Given the description of an element on the screen output the (x, y) to click on. 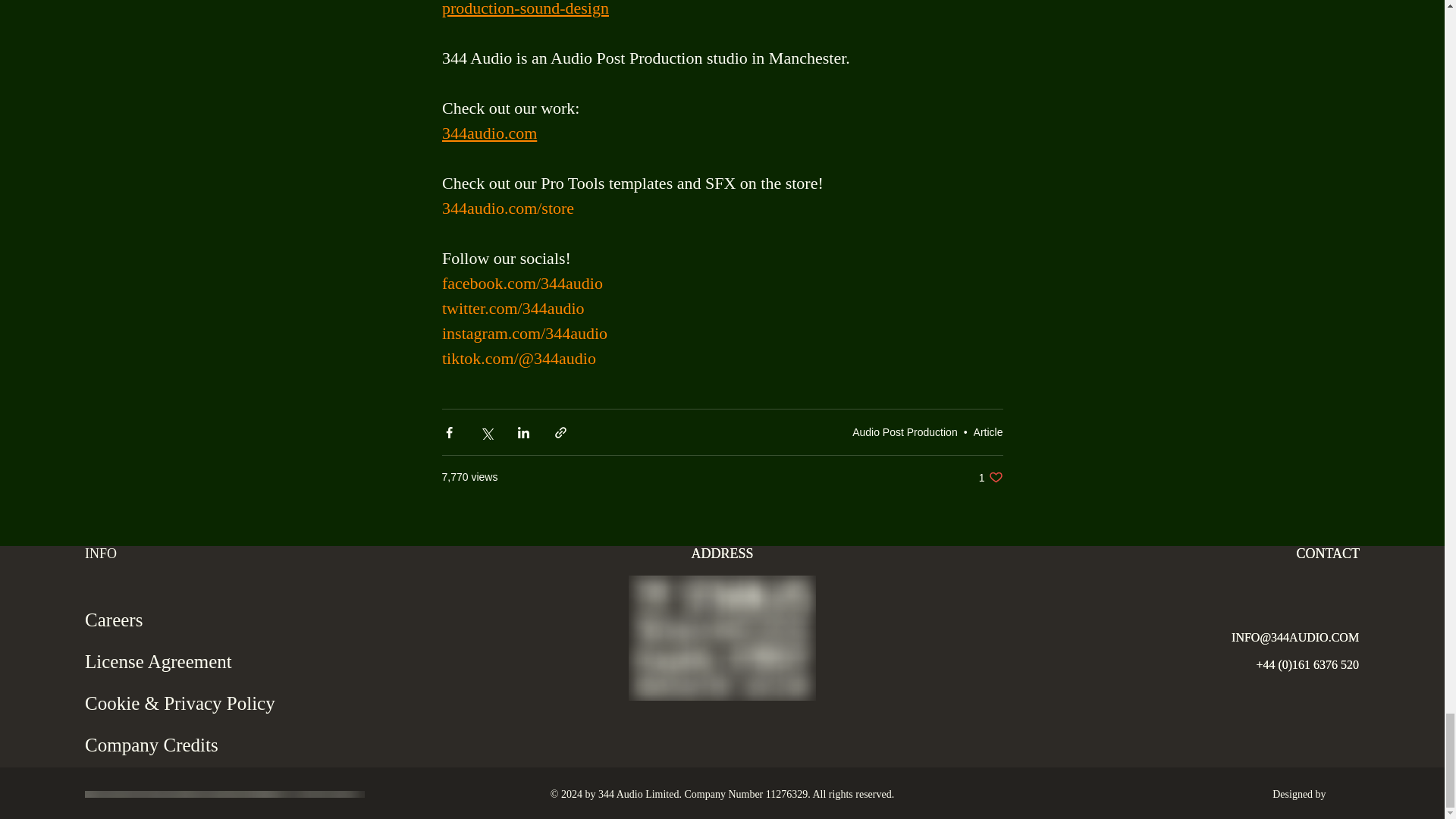
Company Credits (198, 744)
Careers (198, 619)
344audio.com (488, 132)
License Agreement (990, 477)
Audio Post Production (198, 661)
Article (904, 431)
audi (988, 431)
